Given the description of an element on the screen output the (x, y) to click on. 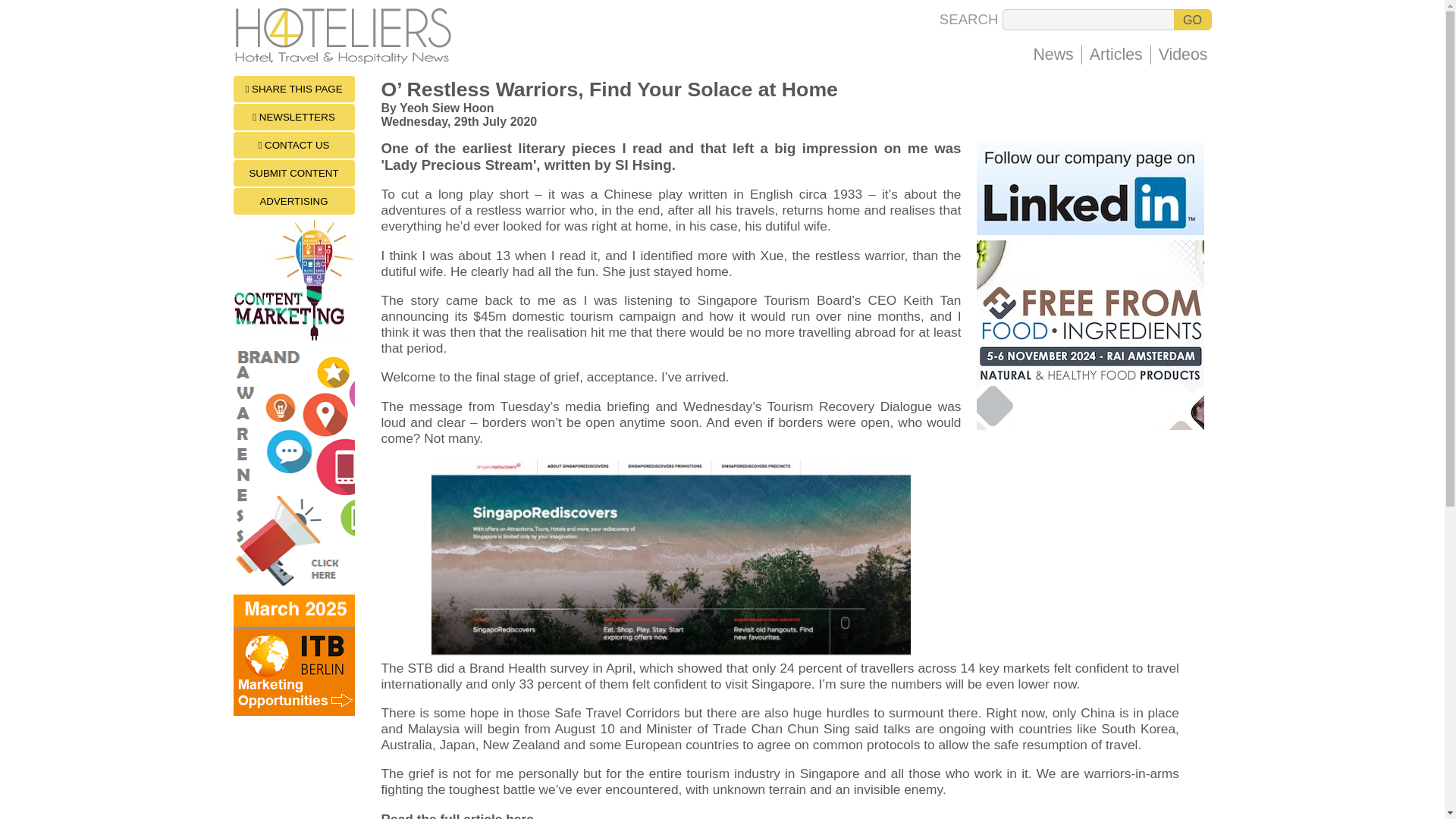
Read the full article here (456, 815)
4Hoteliers Home Page (345, 60)
GO (1192, 19)
GO (1192, 19)
News (1052, 54)
Articles (1115, 54)
GO (1192, 19)
